Given the description of an element on the screen output the (x, y) to click on. 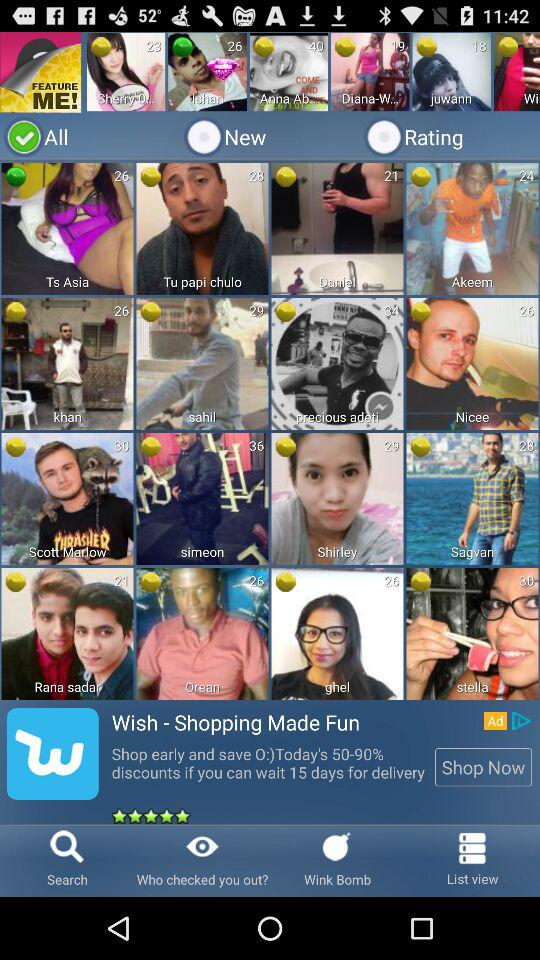
click on the yellow dot on the third image below the text rating (420, 446)
